Given the description of an element on the screen output the (x, y) to click on. 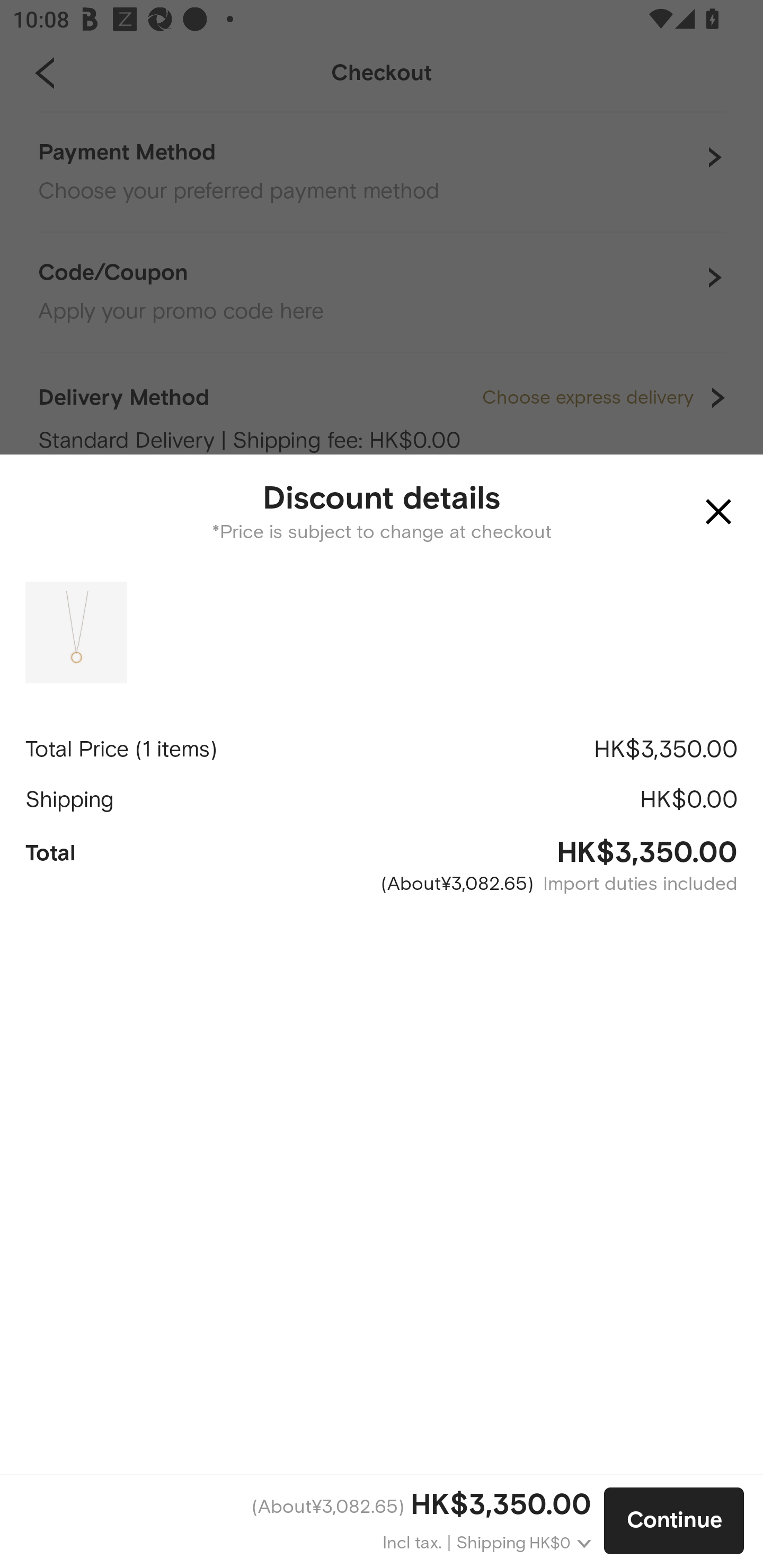
Continue (673, 1520)
